Given the description of an element on the screen output the (x, y) to click on. 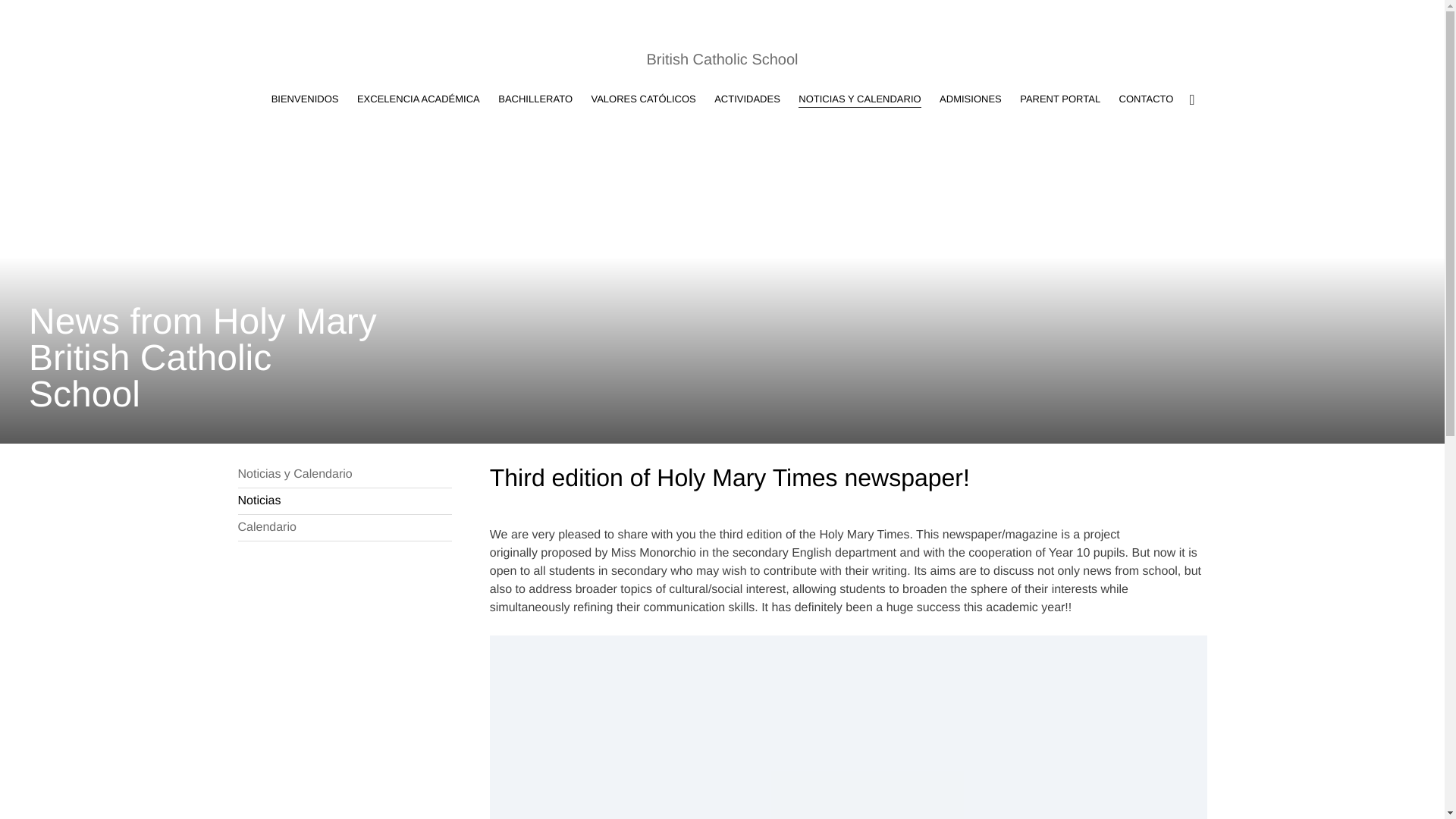
BIENVENIDOS (304, 99)
ADMISIONES (970, 99)
BACHILLERATO (534, 99)
ACTIVIDADES (747, 99)
CONTACTO (1146, 99)
PARENT PORTAL (1060, 99)
NOTICIAS Y CALENDARIO (858, 99)
Calendario (344, 527)
Noticias (344, 501)
Noticias y Calendario (344, 475)
